Given the description of an element on the screen output the (x, y) to click on. 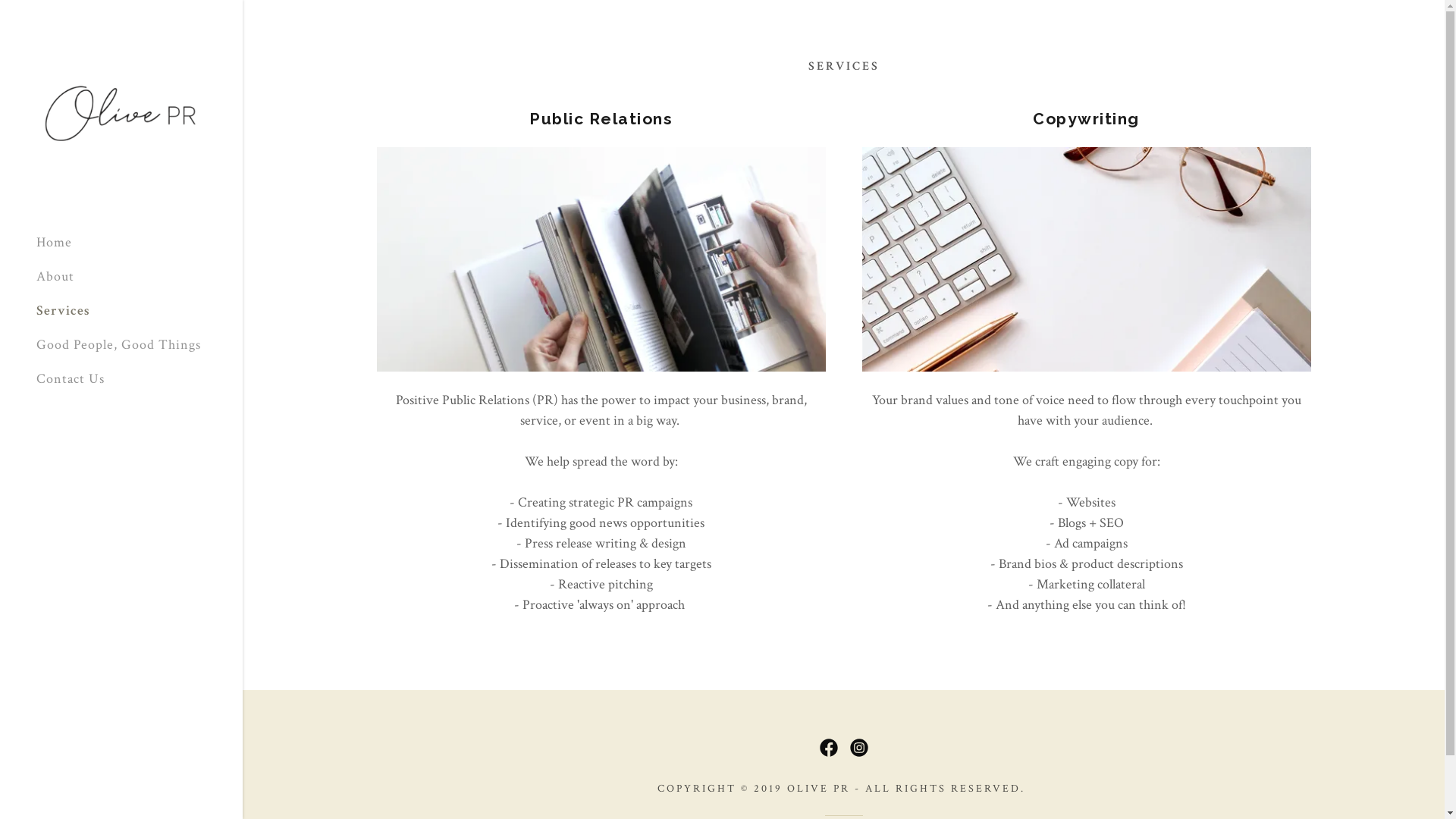
Good People, Good Things Element type: text (118, 344)
Home Element type: text (54, 242)
About Element type: text (55, 276)
Services Element type: text (63, 310)
Contact Us Element type: text (70, 378)
